Given the description of an element on the screen output the (x, y) to click on. 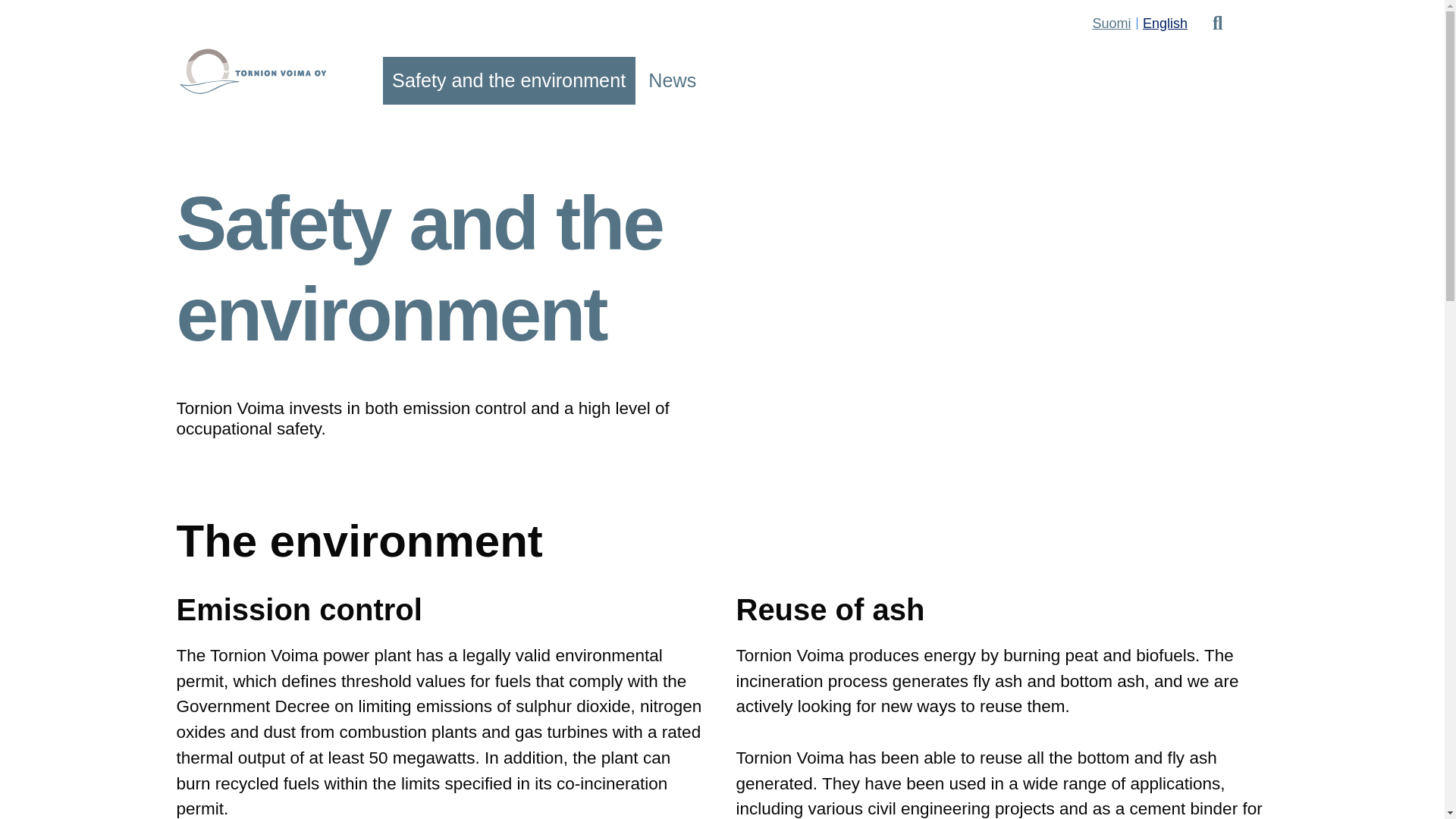
Suomi (1112, 23)
Safety and the environment (507, 80)
English (1165, 23)
Search (1217, 23)
News (672, 80)
